Given the description of an element on the screen output the (x, y) to click on. 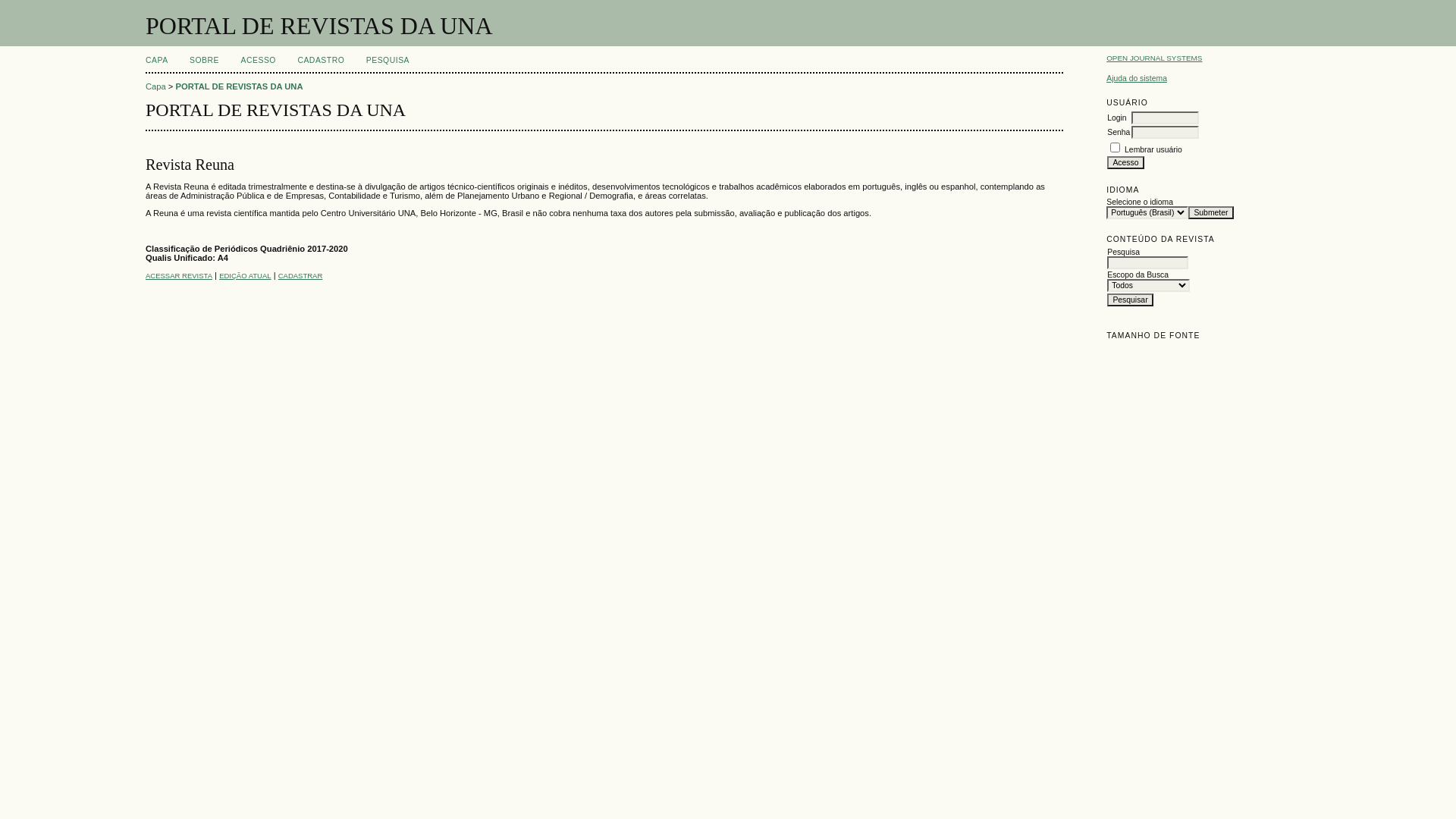
CADASTRO Element type: text (320, 60)
Ajuda do sistema Element type: text (1136, 78)
Capa Element type: text (155, 86)
Submeter Element type: text (1210, 212)
CAPA Element type: text (156, 60)
PORTAL DE REVISTAS DA UNA Element type: text (239, 86)
Acesso Element type: text (1125, 162)
ACESSO Element type: text (258, 60)
PESQUISA Element type: text (387, 60)
CADASTRAR Element type: text (300, 275)
OPEN JOURNAL SYSTEMS Element type: text (1153, 57)
SOBRE Element type: text (204, 60)
ACESSAR REVISTA Element type: text (178, 275)
Pesquisar Element type: text (1130, 299)
